Given the description of an element on the screen output the (x, y) to click on. 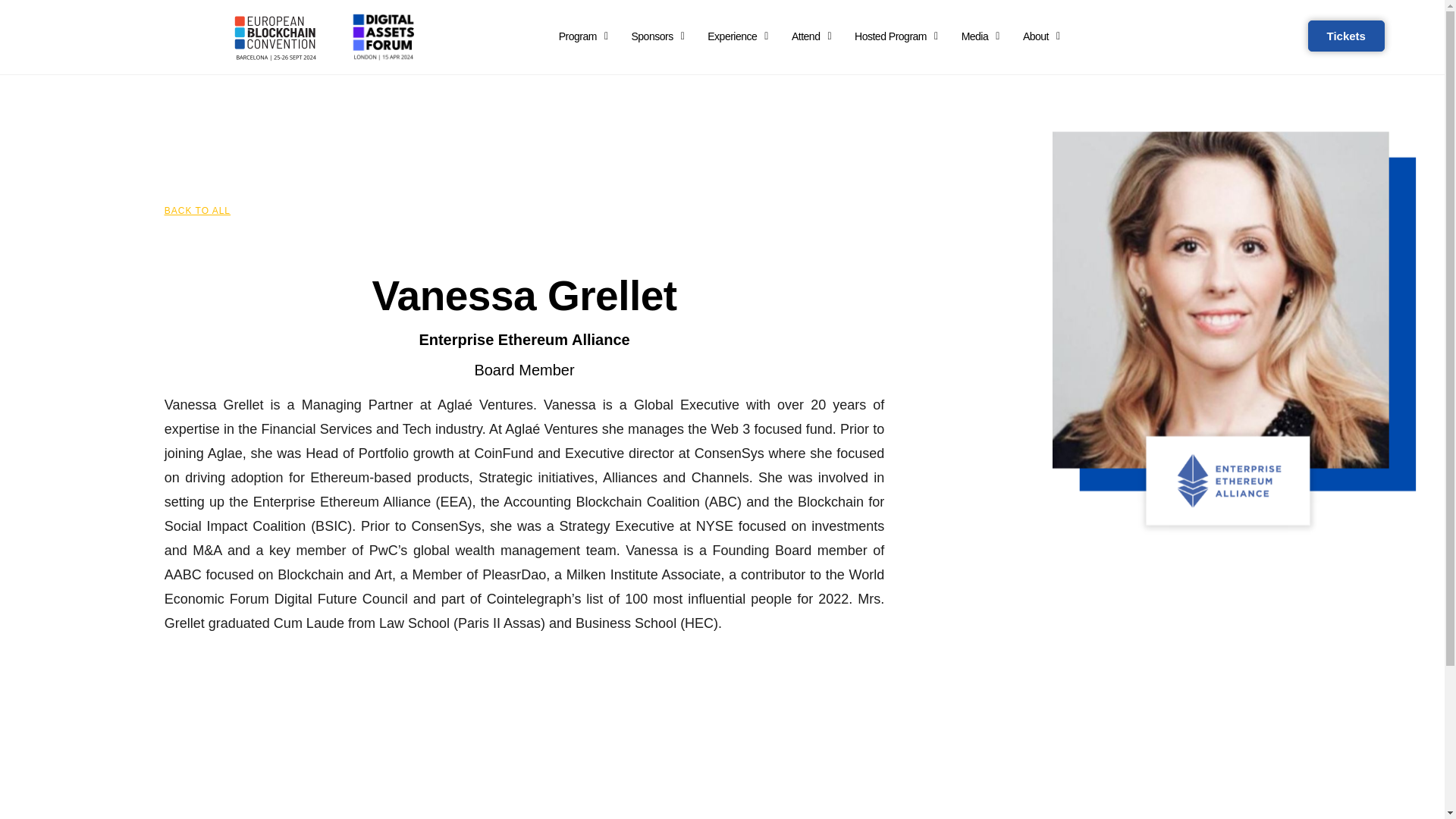
About (1040, 36)
Sponsors (657, 36)
Attend (811, 36)
Program (583, 36)
Hosted Program (896, 36)
Tickets (1345, 35)
Media (980, 36)
Experience (737, 36)
